Given the description of an element on the screen output the (x, y) to click on. 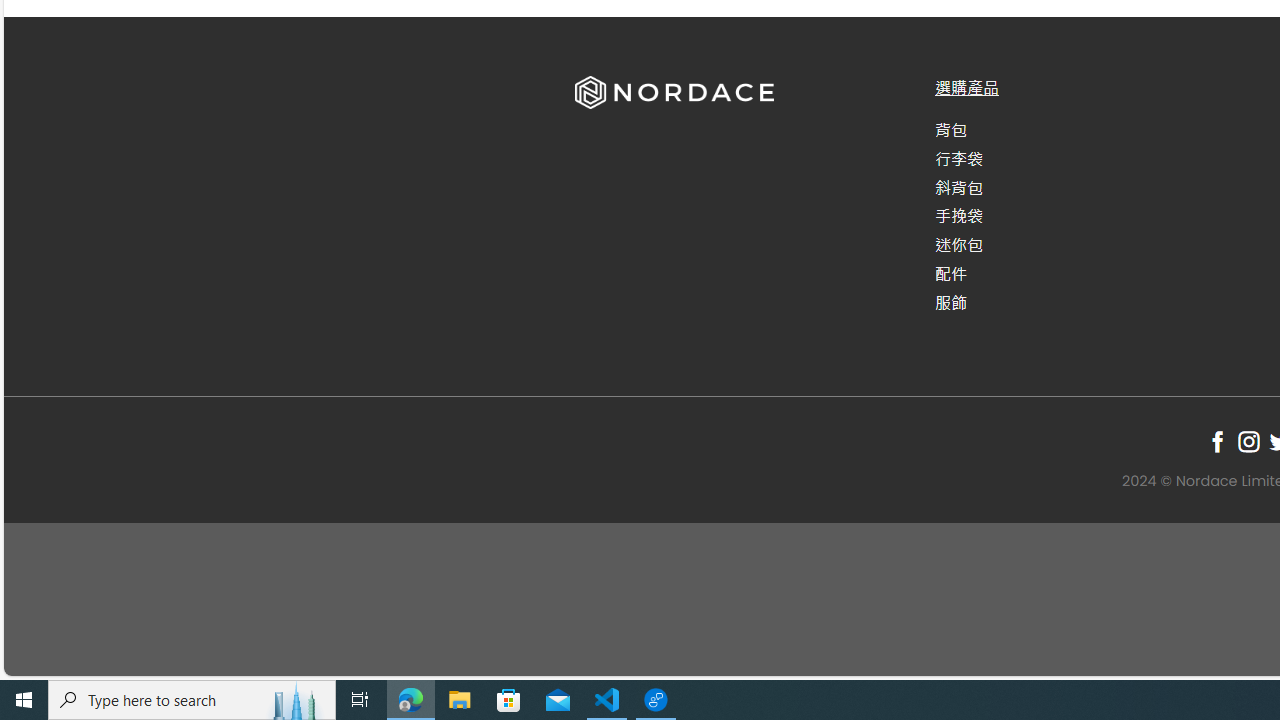
Follow on Instagram (1248, 441)
